Given the description of an element on the screen output the (x, y) to click on. 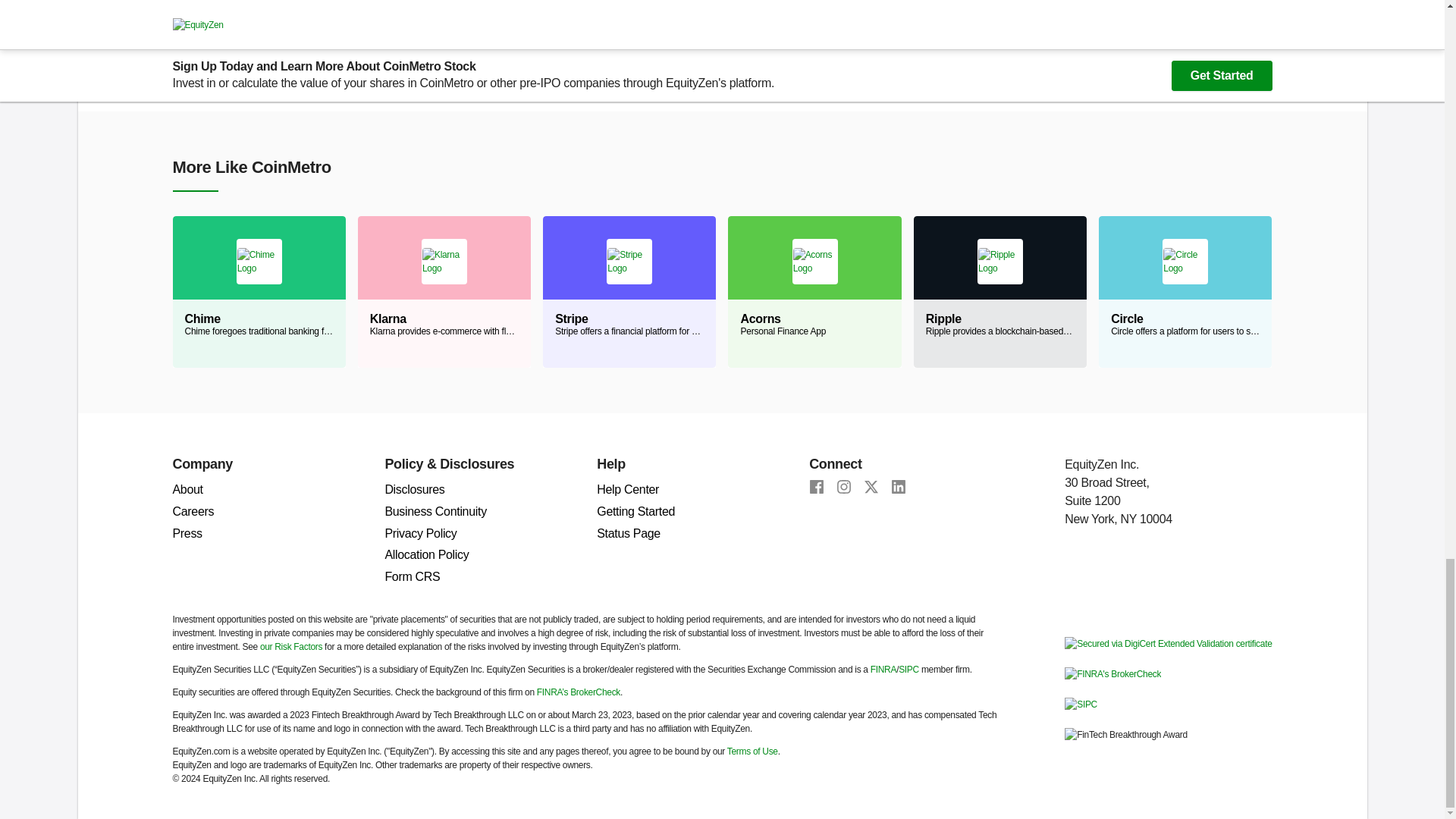
Careers (193, 511)
our Risk Factors (290, 646)
Help Center (627, 489)
Getting Started (635, 511)
Allocation Policy (426, 554)
Disclosures (414, 489)
Privacy Policy (420, 533)
Help Center (627, 489)
Verify Digicert EV Certificate (1167, 642)
Careers (193, 511)
About (188, 489)
Form CRS (411, 576)
Getting Started (635, 511)
Business Continuity (435, 511)
Allocation Policy (426, 554)
